Given the description of an element on the screen output the (x, y) to click on. 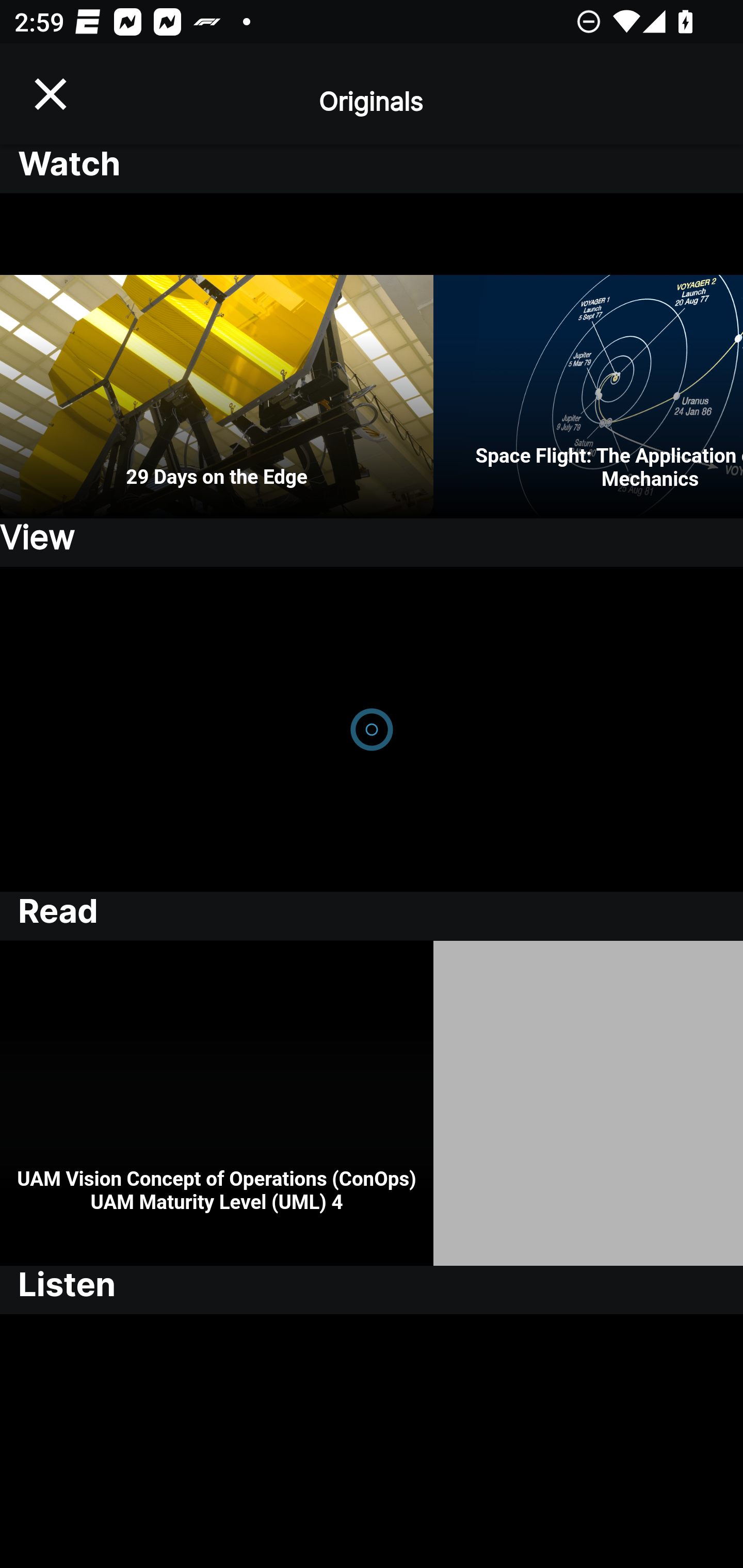
29 Days on the Edge (216, 355)
Space Flight: The Application of Orbital Mechanics (588, 355)
